Given the description of an element on the screen output the (x, y) to click on. 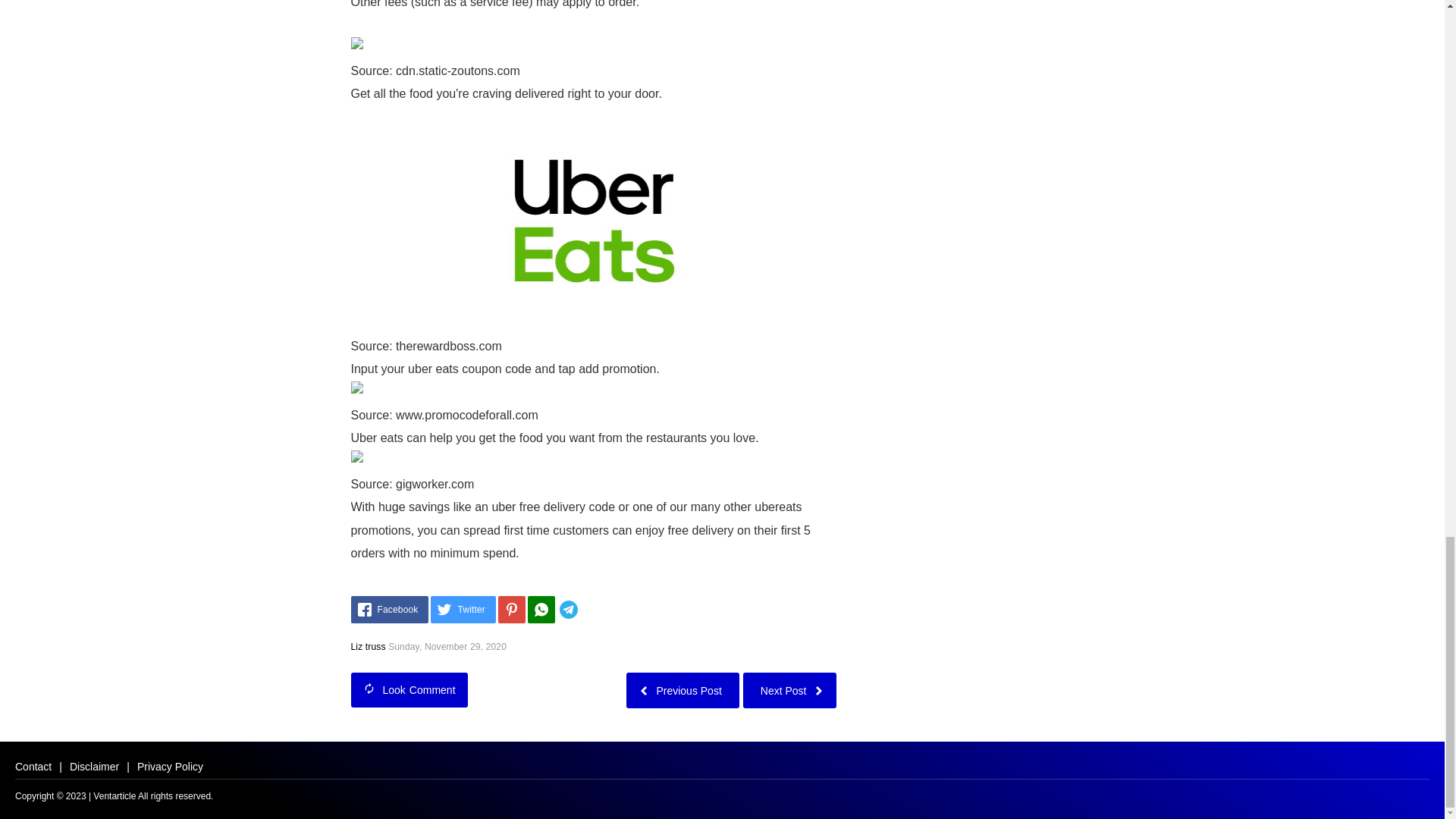
Newer Post (788, 690)
Twitter (462, 609)
Older Post (682, 690)
Next Post (788, 690)
Share to Telegram (590, 609)
Previous Post (682, 690)
author profile (367, 646)
Share on Pinterest (511, 609)
Liz truss (367, 646)
Telegram (590, 609)
